Given the description of an element on the screen output the (x, y) to click on. 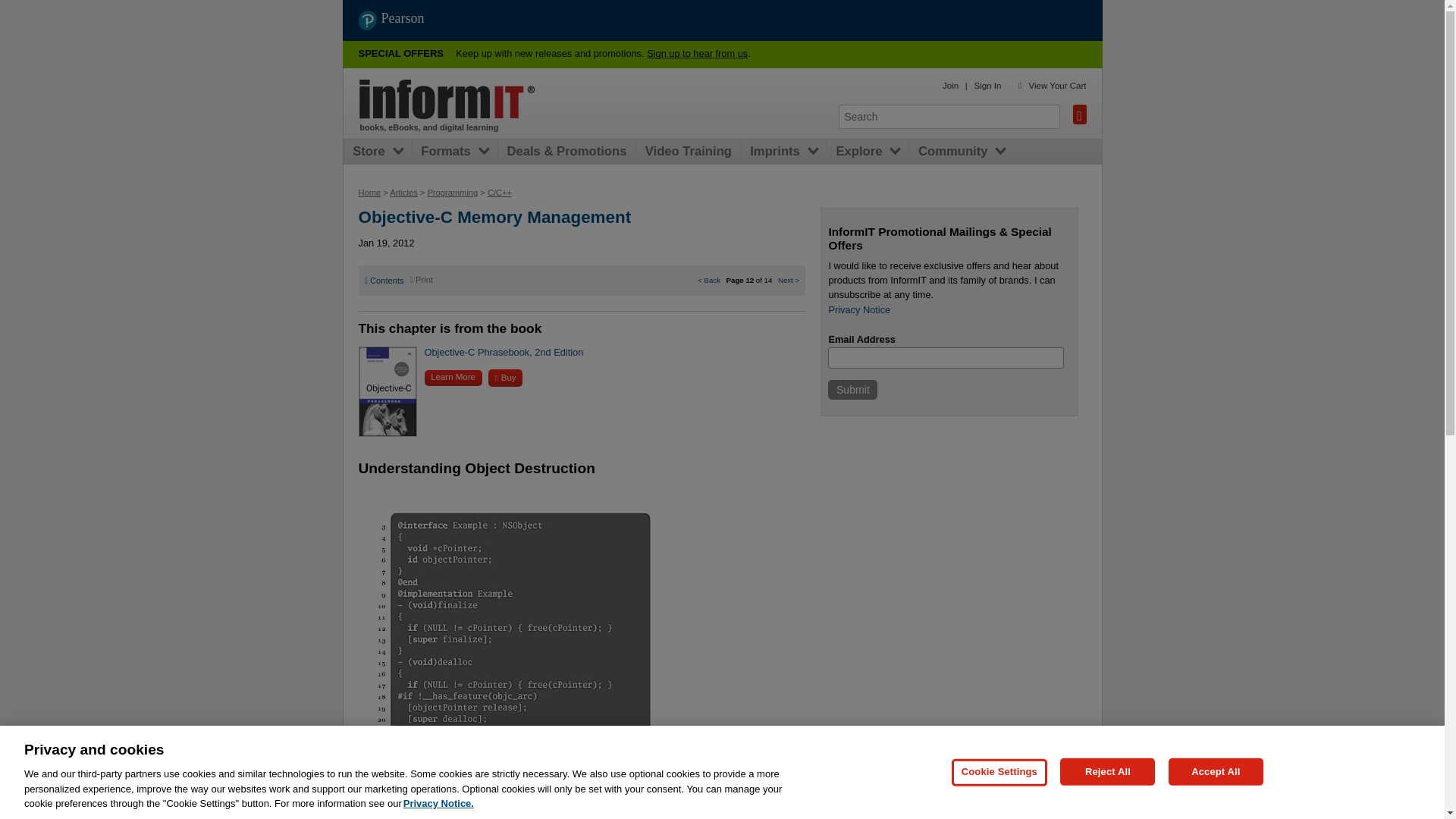
Submit (852, 389)
Articles (403, 192)
Print (421, 279)
Privacy Notice (858, 309)
Home (446, 98)
Objective-C Memory Management (494, 217)
Learn More (453, 377)
Objective-C Phrasebook, 2nd Edition (504, 351)
Sign up to hear from us (697, 52)
Submit (852, 389)
